Given the description of an element on the screen output the (x, y) to click on. 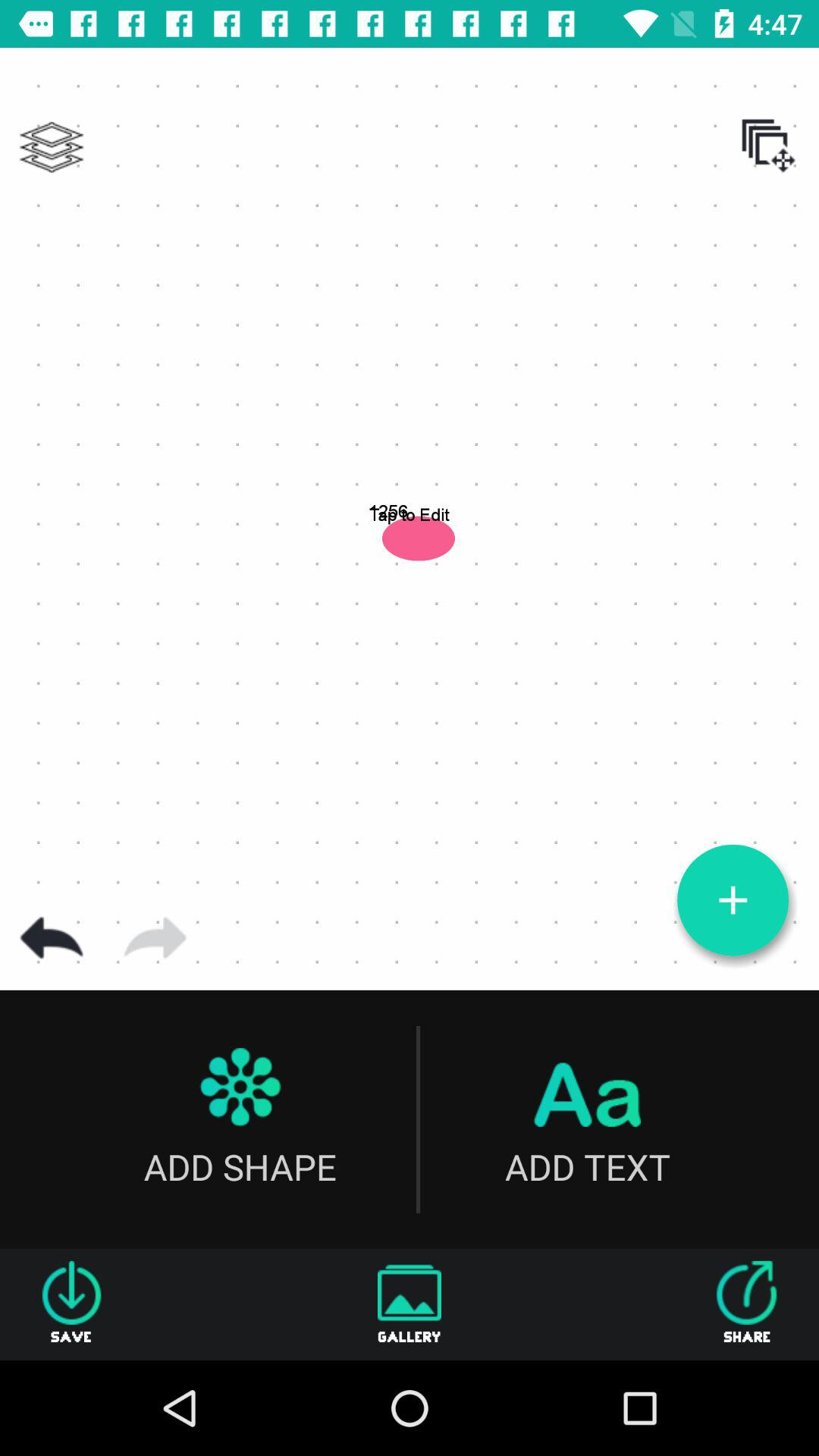
go to next (155, 938)
